Given the description of an element on the screen output the (x, y) to click on. 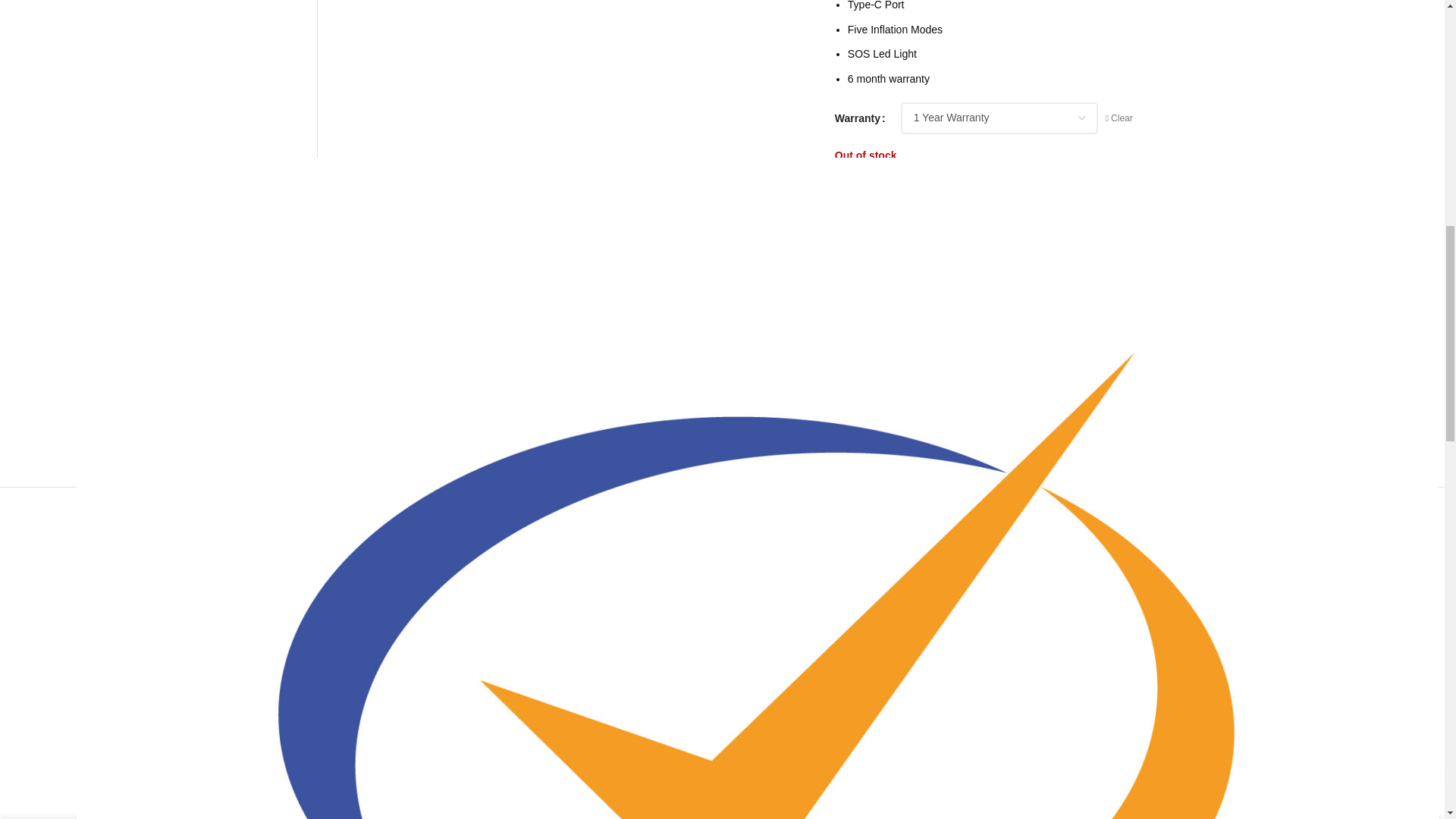
1 (864, 193)
- (843, 193)
